Given the description of an element on the screen output the (x, y) to click on. 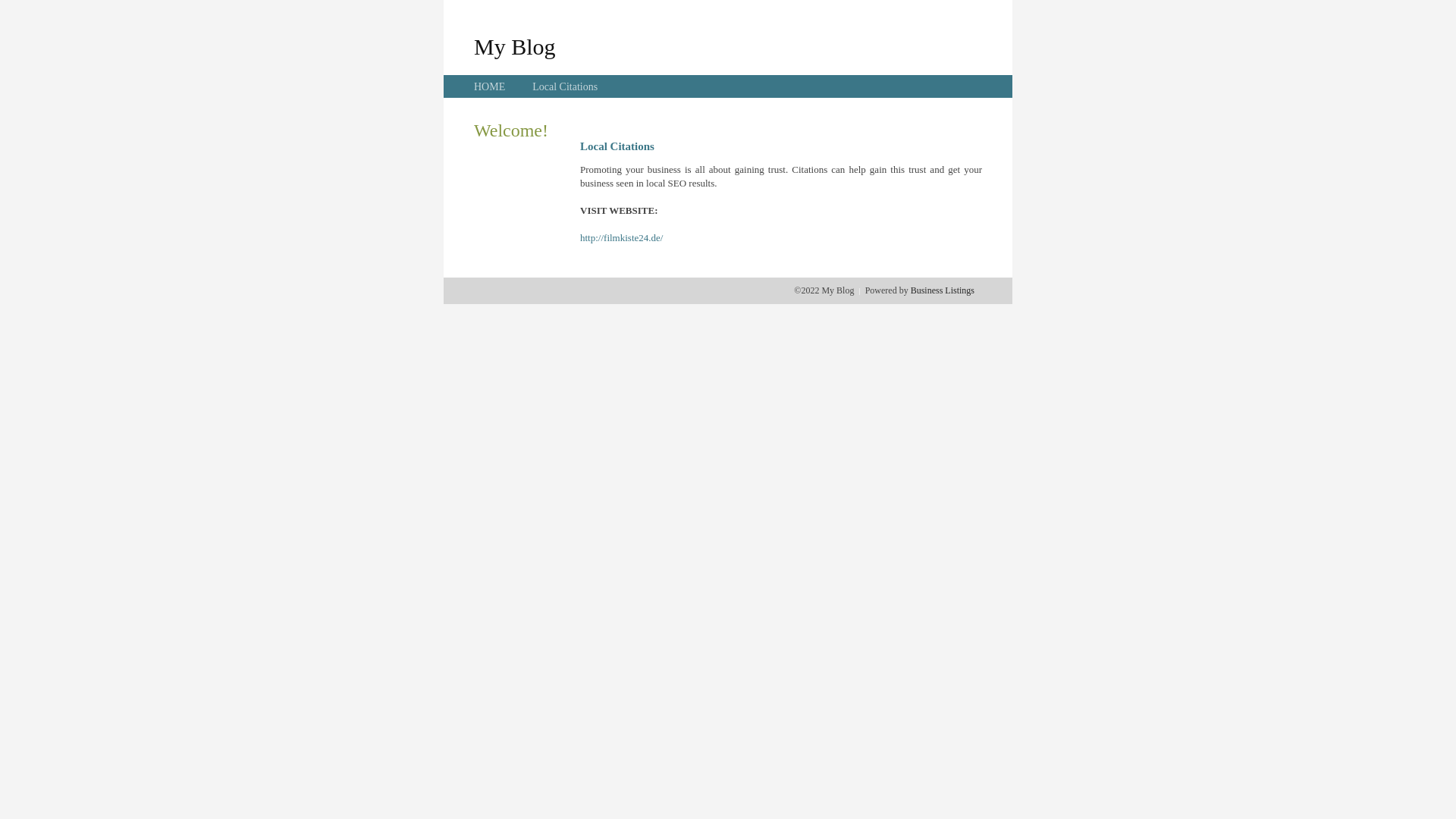
Business Listings Element type: text (942, 290)
HOME Element type: text (489, 86)
My Blog Element type: text (514, 46)
http://filmkiste24.de/ Element type: text (621, 237)
Local Citations Element type: text (564, 86)
